Given the description of an element on the screen output the (x, y) to click on. 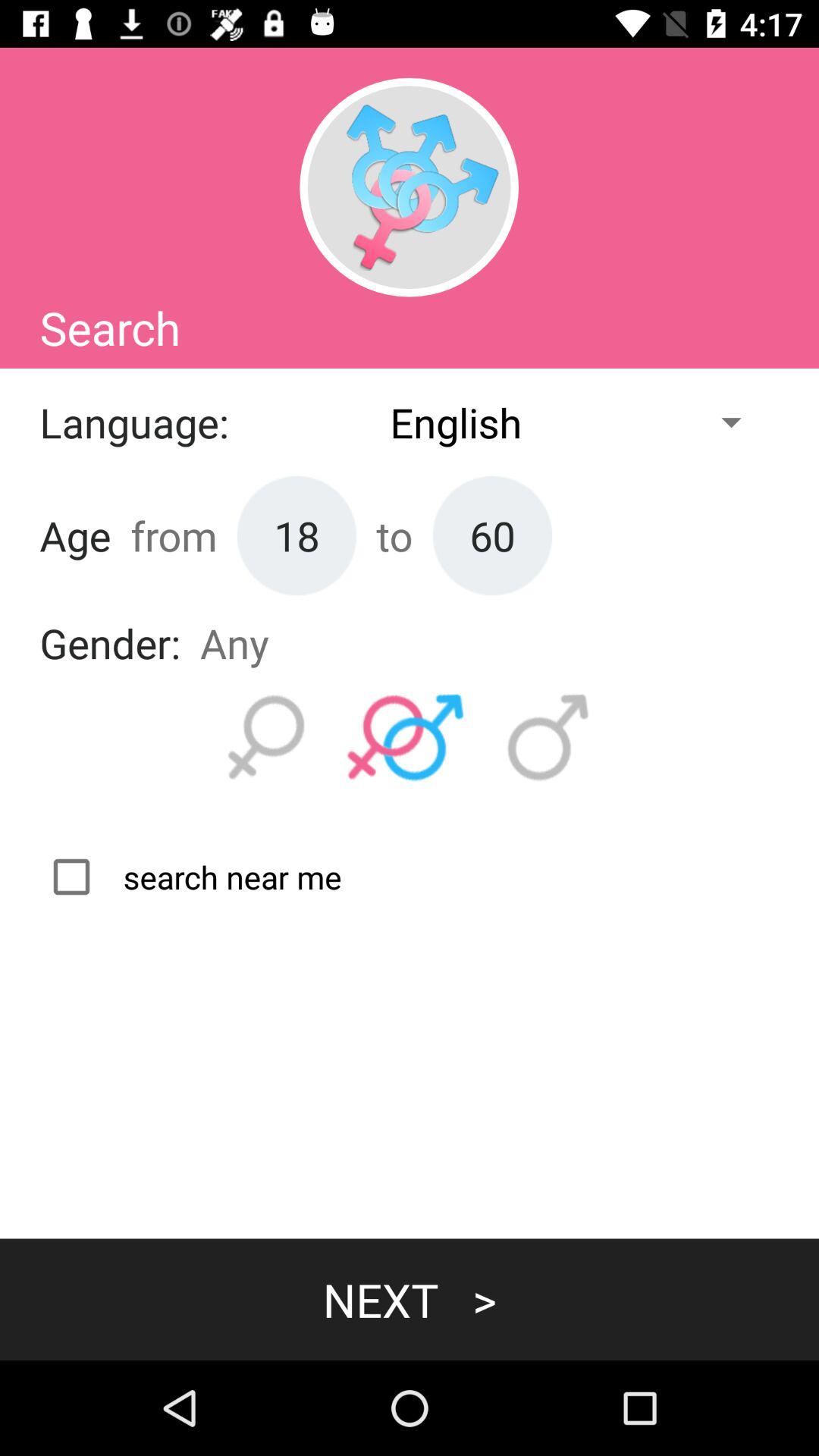
select option male (548, 738)
